Given the description of an element on the screen output the (x, y) to click on. 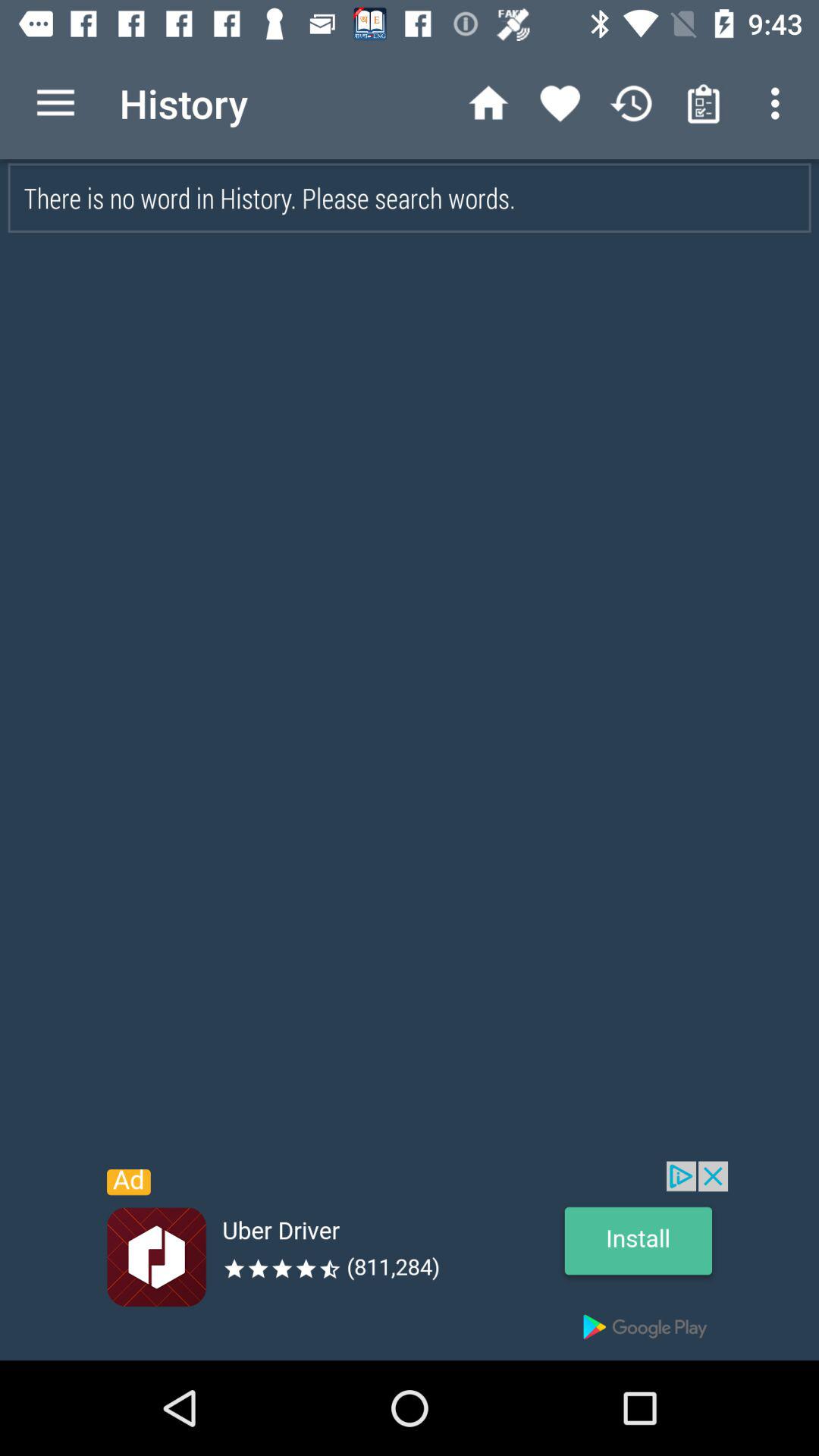
view advertisement (409, 1260)
